Given the description of an element on the screen output the (x, y) to click on. 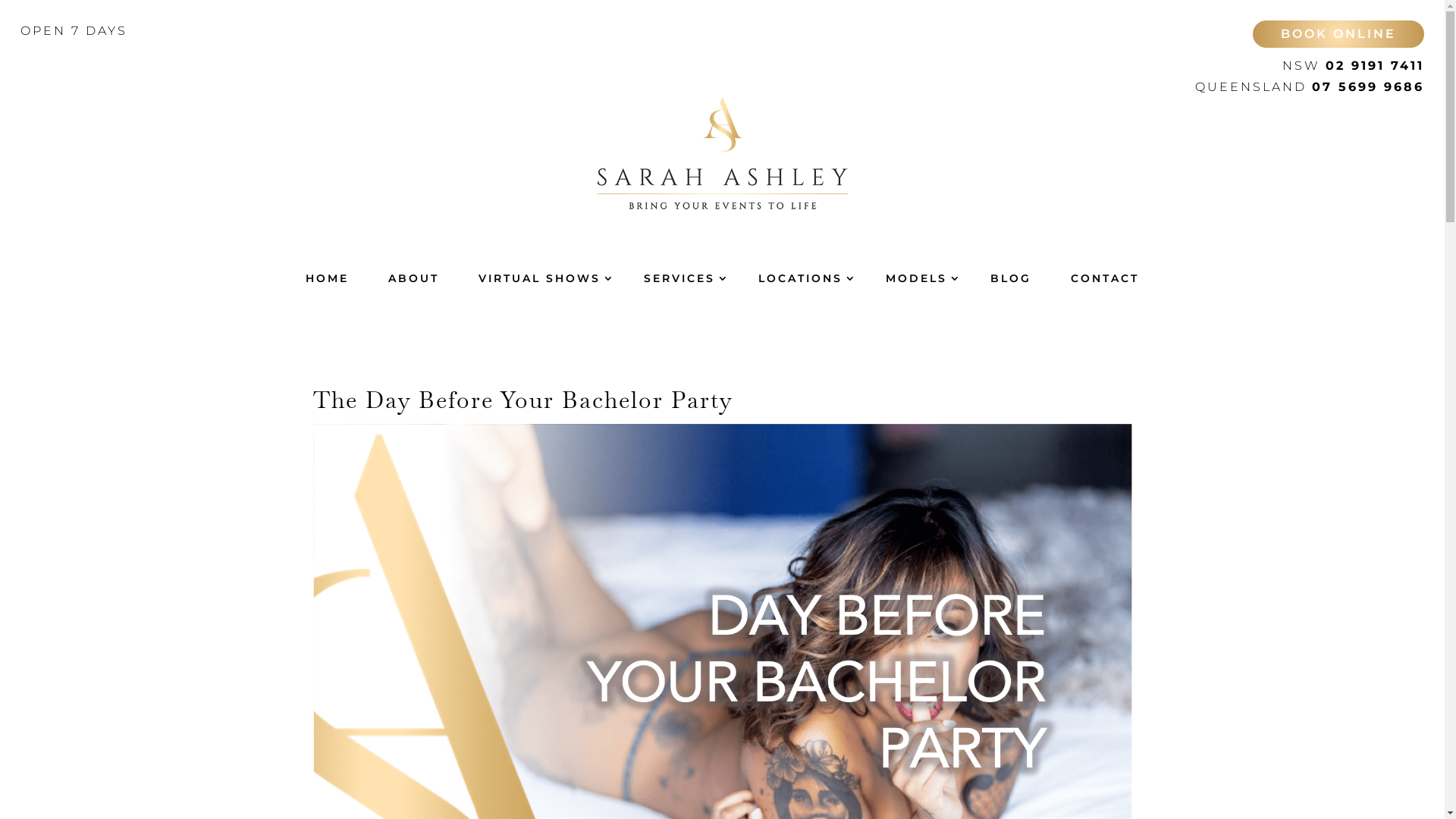
BOOK ONLINE Element type: text (1338, 34)
SERVICES Element type: text (681, 277)
BLOG Element type: text (1010, 277)
ABOUT Element type: text (413, 277)
MODELS Element type: text (918, 277)
VIRTUAL SHOWS Element type: text (541, 277)
LOCATIONS Element type: text (801, 277)
HOME Element type: text (327, 277)
02 9191 7411 Element type: text (1374, 65)
CONTACT Element type: text (1104, 277)
Sarah Ashley Logo Element type: hover (722, 153)
07 5699 9686 Element type: text (1367, 86)
